Given the description of an element on the screen output the (x, y) to click on. 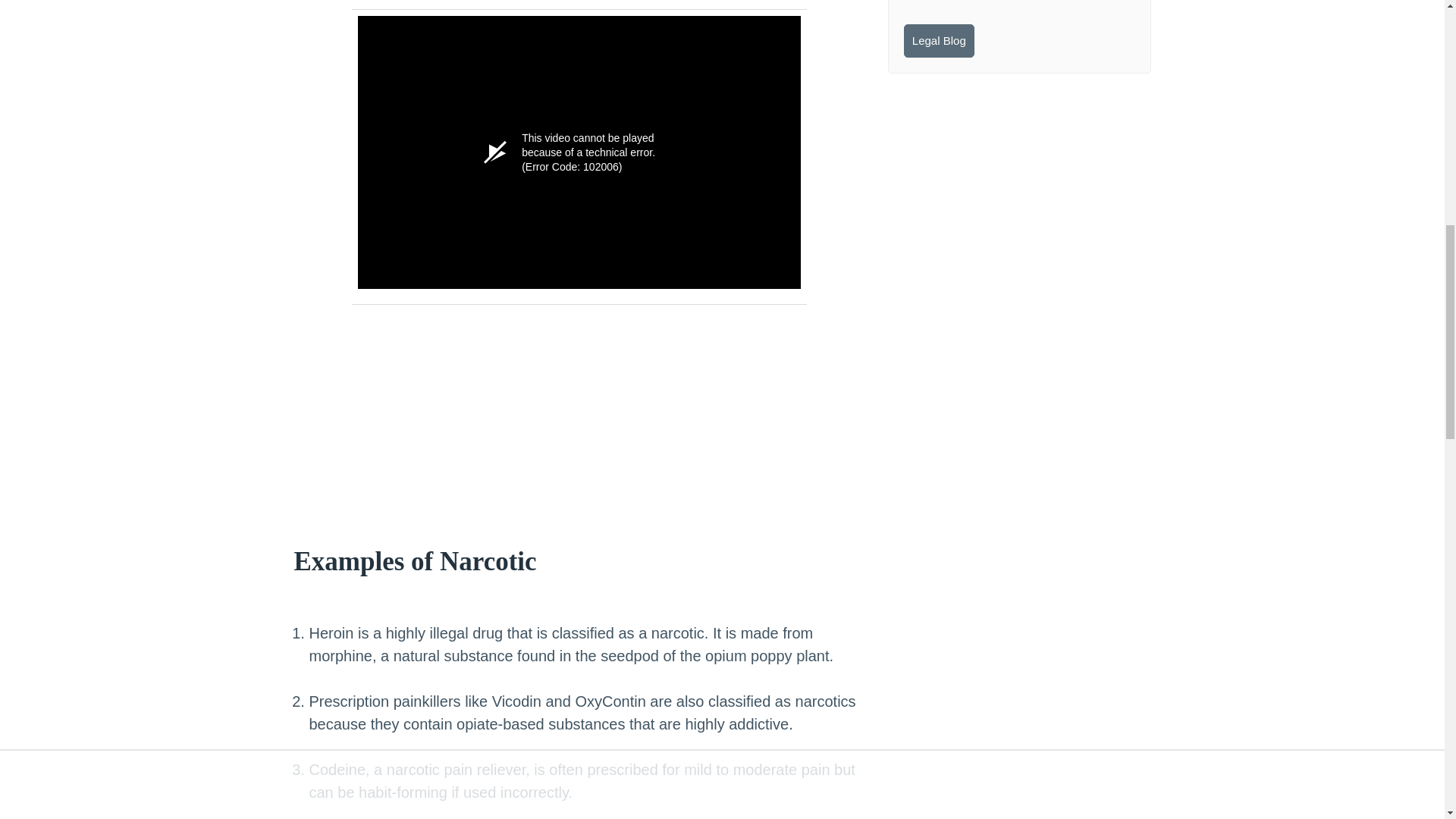
Legal Blog (939, 41)
